Given the description of an element on the screen output the (x, y) to click on. 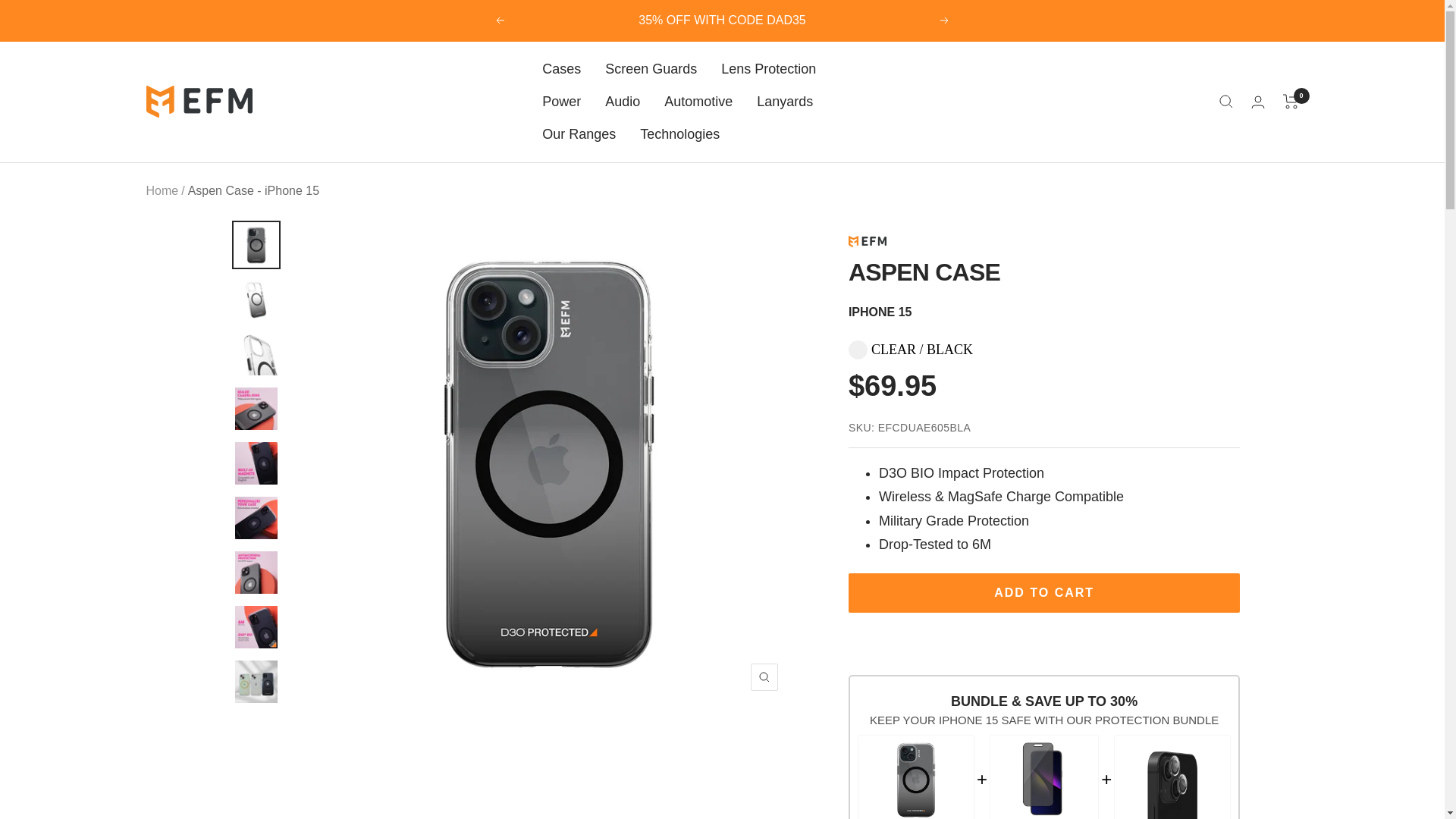
Screen Guards (651, 69)
Our Ranges (578, 134)
Previous (499, 20)
EFM Device Gear (198, 101)
Next (944, 20)
Zoom (764, 677)
Home (161, 190)
Cases (560, 69)
Audio (622, 101)
Automotive (697, 101)
